Given the description of an element on the screen output the (x, y) to click on. 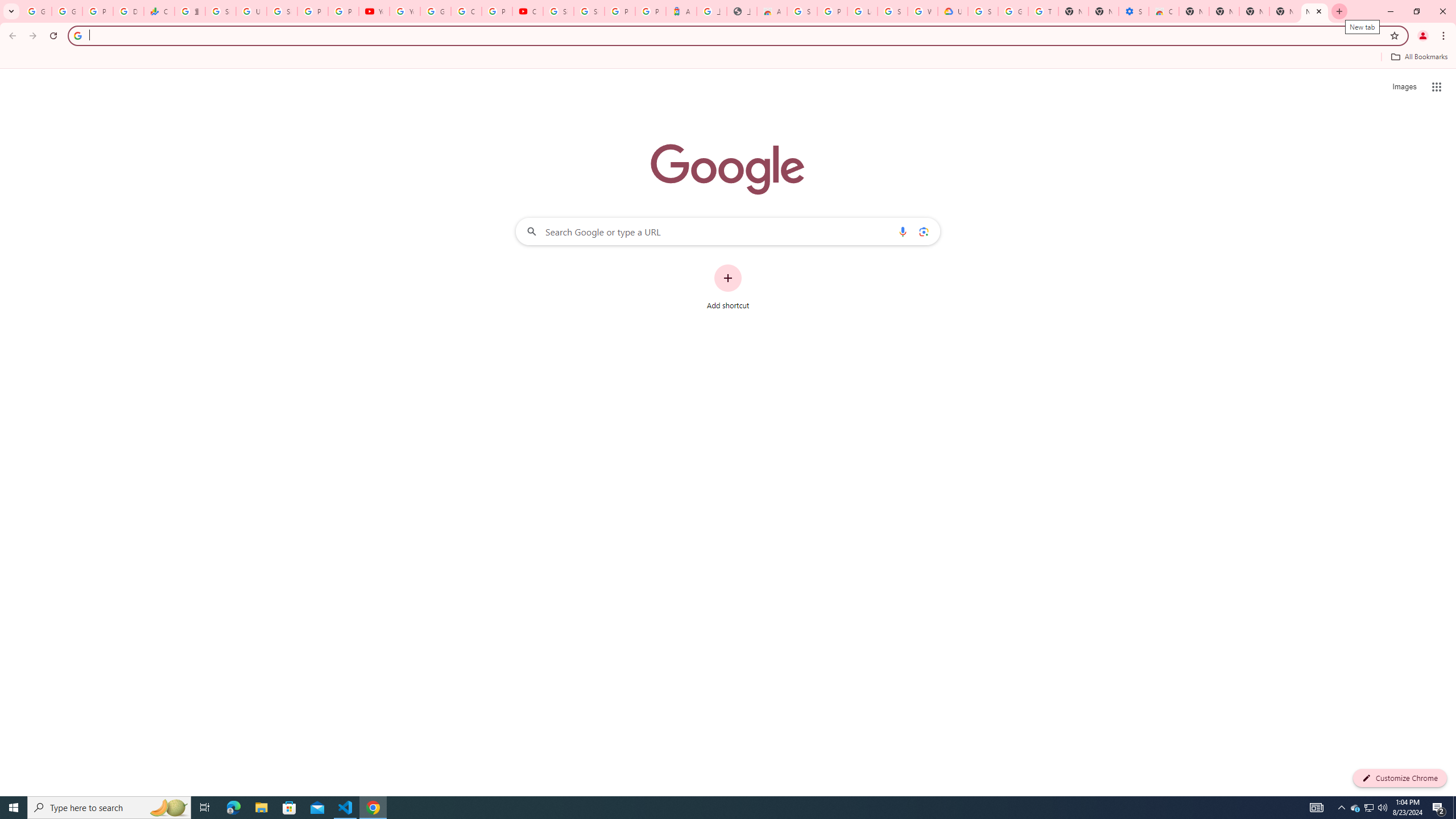
Content Creator Programs & Opportunities - YouTube Creators (527, 11)
YouTube (404, 11)
Sign in - Google Accounts (801, 11)
Google Account Help (434, 11)
Atour Hotel - Google hotels (681, 11)
